Given the description of an element on the screen output the (x, y) to click on. 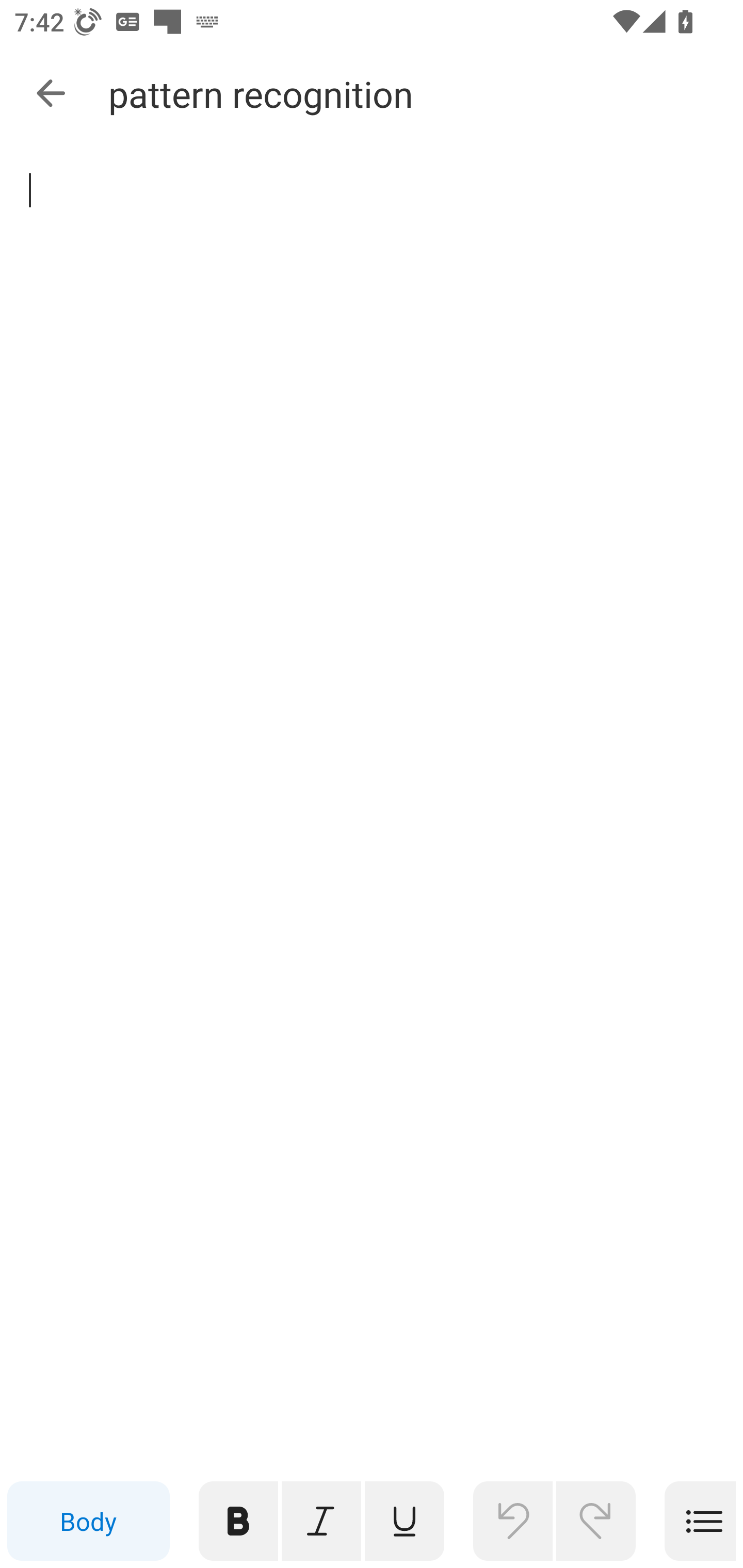
Dismiss detail view (50, 93)
Incomplete task pattern recognition, Button (50, 192)
Body Font style button body (88, 1520)
Bold (237, 1520)
Italic (321, 1520)
Underline (404, 1520)
Undo (512, 1520)
Redo (596, 1520)
Bullet (699, 1520)
